Given the description of an element on the screen output the (x, y) to click on. 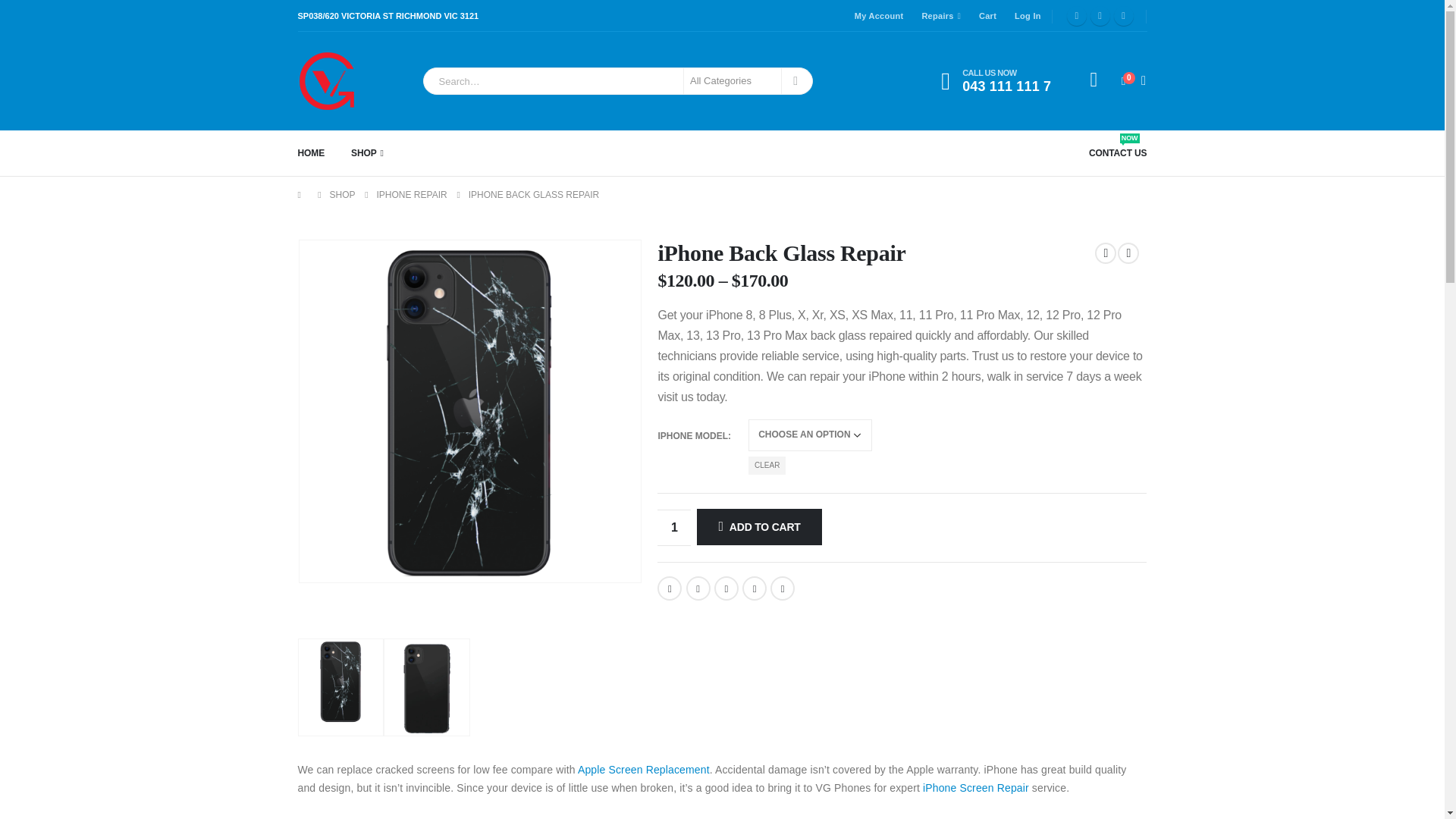
IPHONE REPAIR (411, 194)
Facebook (669, 588)
Twitter (1099, 15)
Cart (991, 80)
iPhone-back-glass-repair (984, 15)
1 (469, 411)
Twitter (674, 527)
Repairs (697, 588)
